Given the description of an element on the screen output the (x, y) to click on. 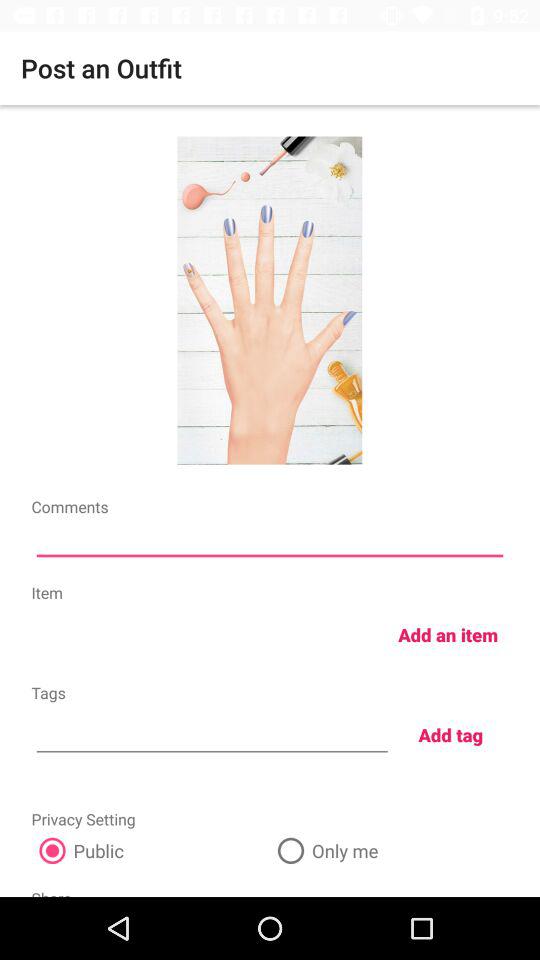
write tags (212, 732)
